Given the description of an element on the screen output the (x, y) to click on. 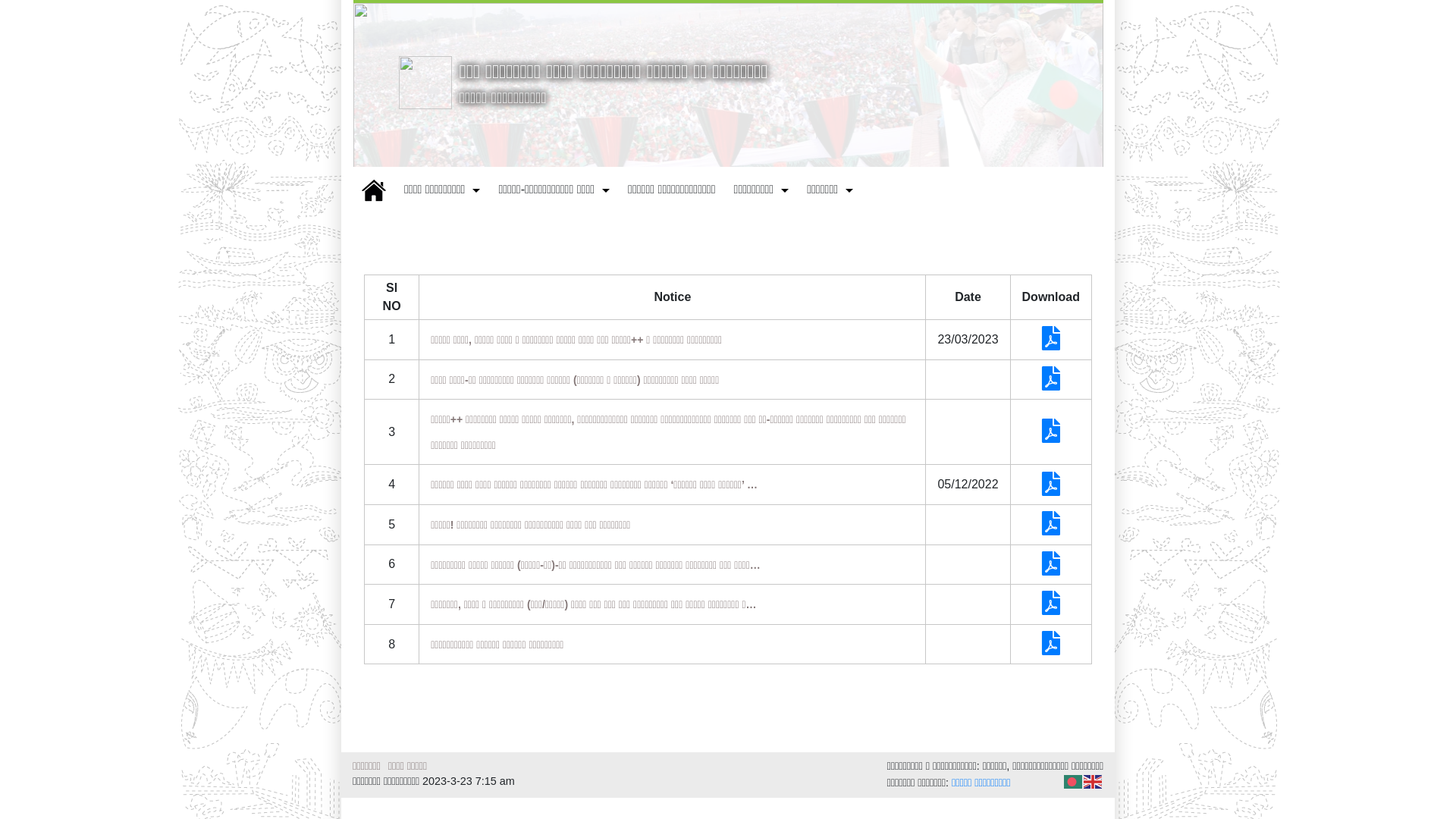
English Element type: hover (1093, 781)
Bengali Element type: hover (1073, 781)
